Given the description of an element on the screen output the (x, y) to click on. 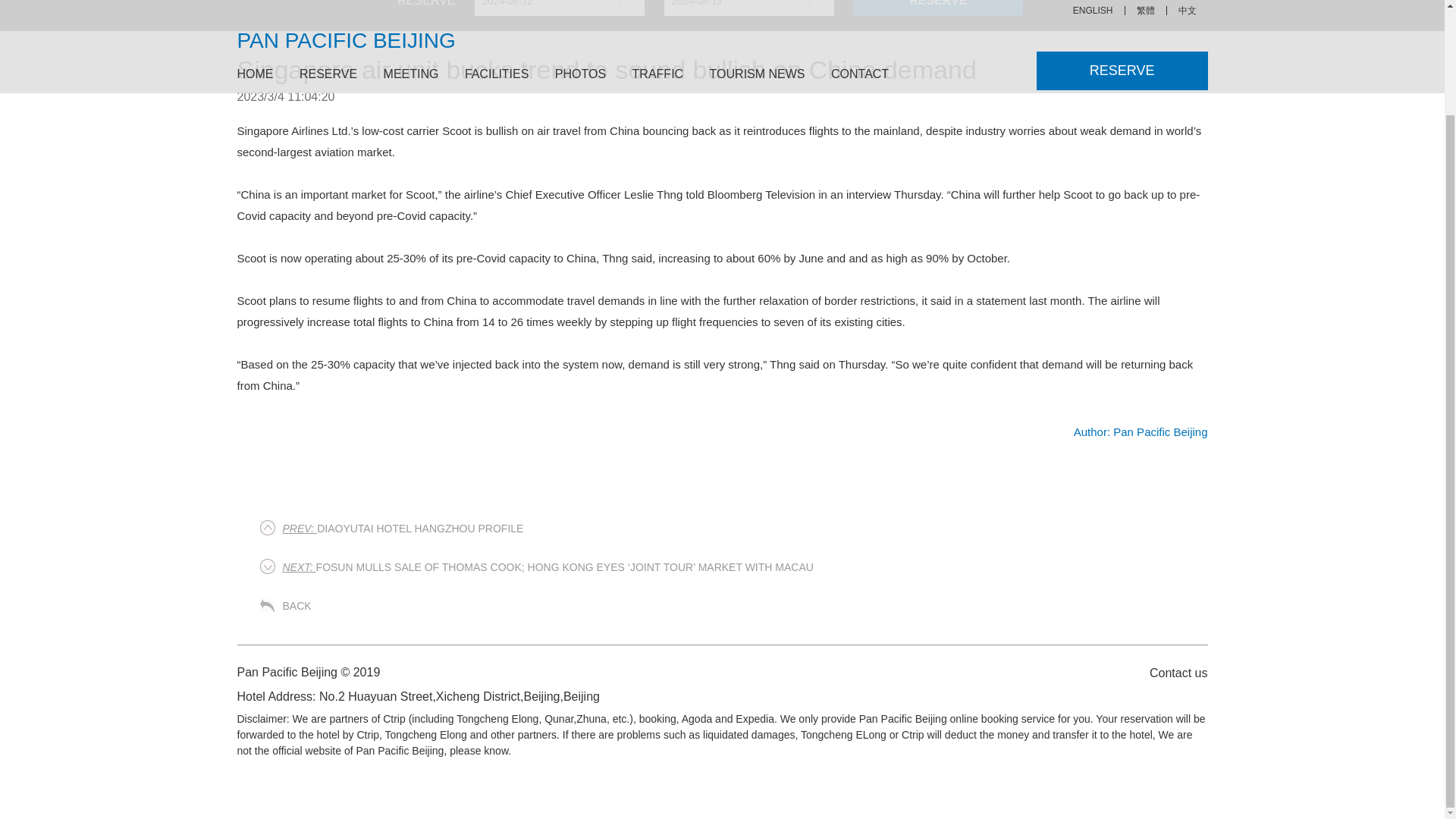
2024-08-13 (748, 7)
Reserve (938, 7)
Pan Pacific Beijing (1141, 431)
BACK (296, 605)
2024-08-12 (559, 7)
PREV: DIAOYUTAI HOTEL HANGZHOU PROFILE (402, 528)
Contact us (1170, 671)
Diaoyutai Hotel Hangzhou profile (402, 528)
Author: Pan Pacific Beijing (1141, 431)
Reserve (938, 7)
